Given the description of an element on the screen output the (x, y) to click on. 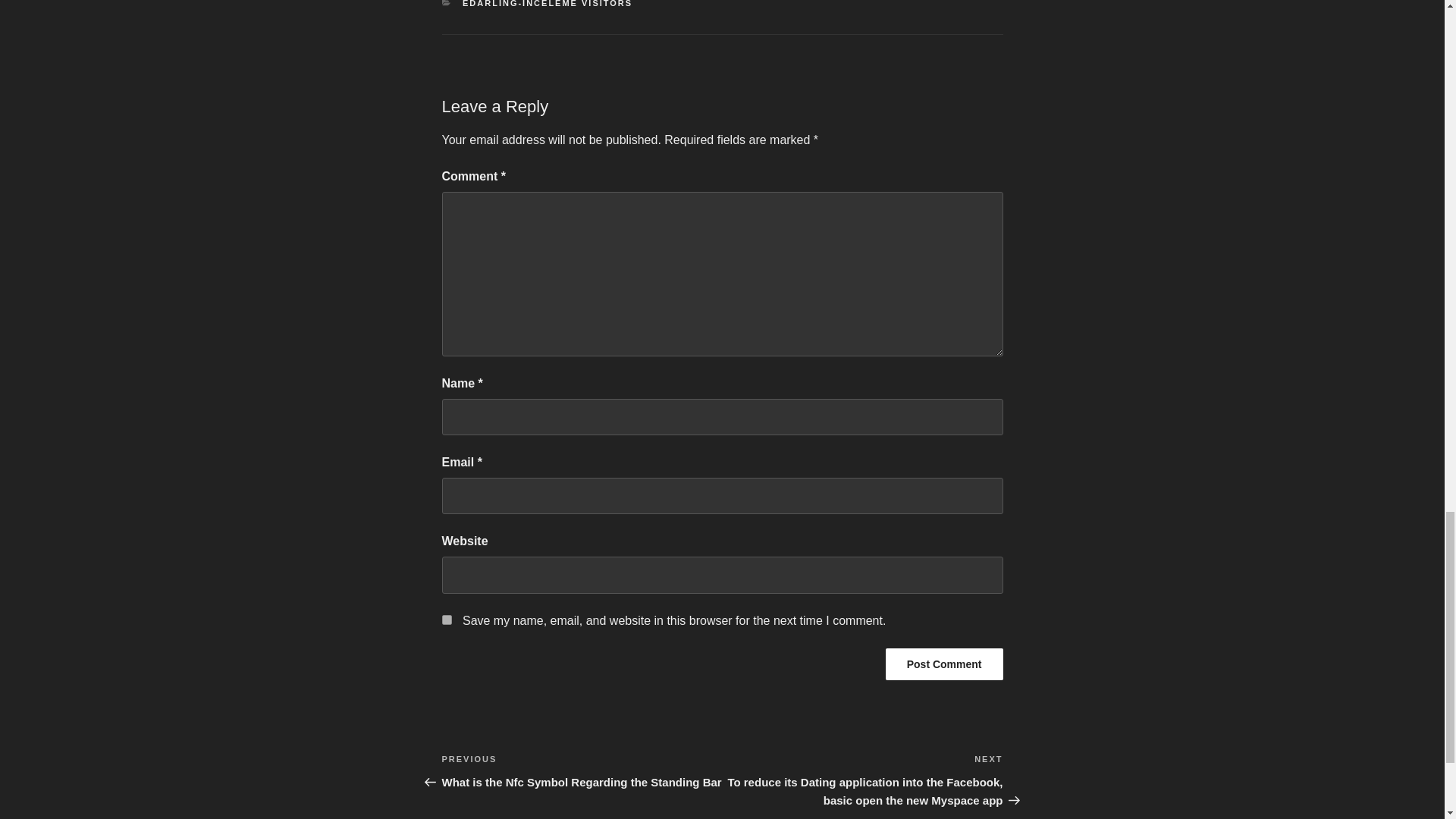
Post Comment (944, 664)
EDARLING-INCELEME VISITORS (547, 3)
Post Comment (944, 664)
yes (446, 619)
